Given the description of an element on the screen output the (x, y) to click on. 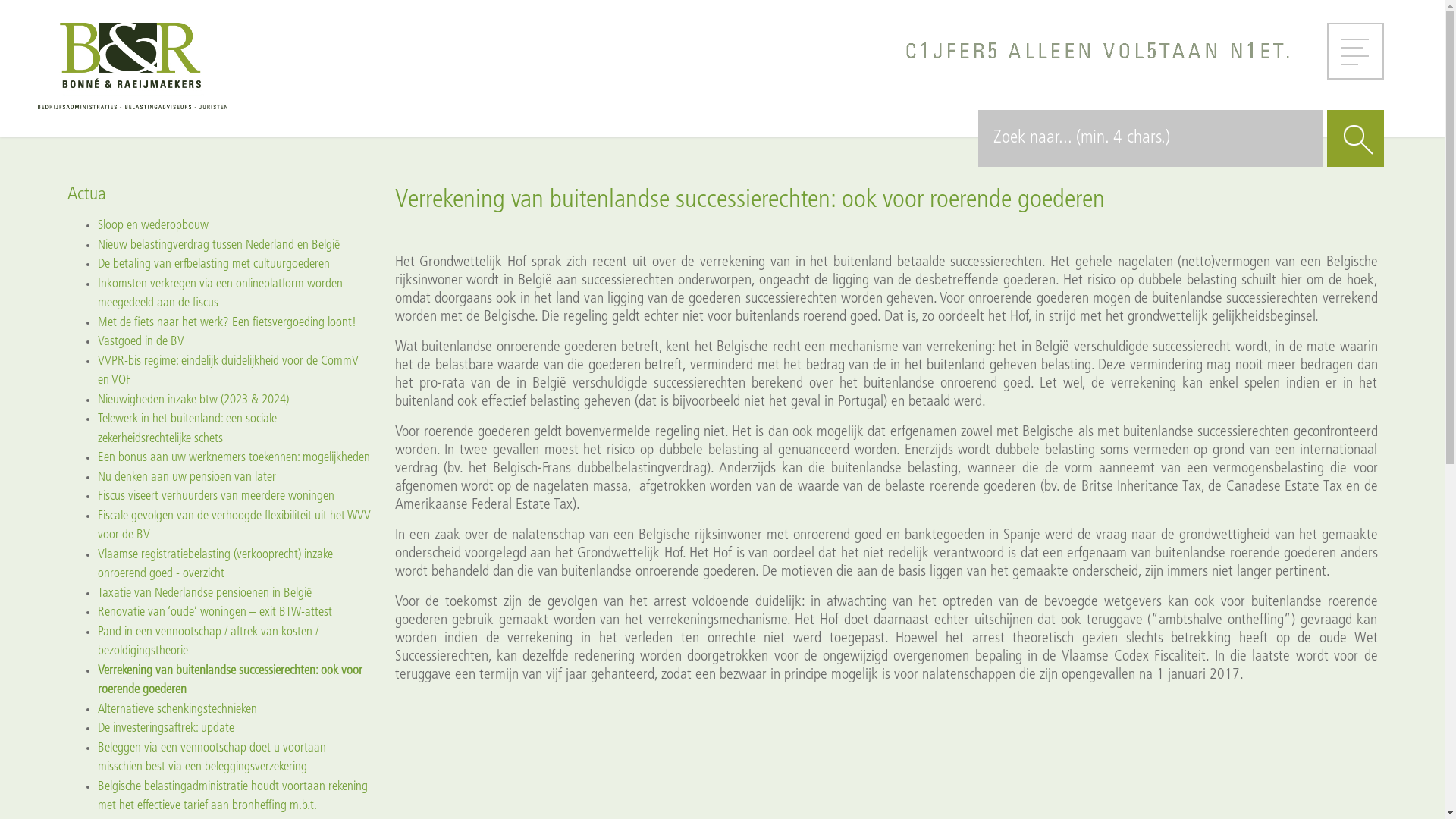
Met de fiets naar het werk? Een fietsvergoeding loont! Element type: text (226, 321)
Een bonus aan uw werknemers toekennen: mogelijkheden Element type: text (233, 457)
Alternatieve schenkingstechnieken Element type: text (176, 708)
Sloop en wederopbouw Element type: text (152, 225)
De investeringsaftrek: update Element type: text (165, 727)
Nu denken aan uw pensioen van later Element type: text (186, 476)
Fiscus viseert verhuurders van meerdere woningen Element type: text (215, 495)
Nieuwigheden inzake btw (2023 & 2024) Element type: text (192, 398)
De betaling van erfbelasting met cultuurgoederen Element type: text (213, 263)
Vastgoed in de BV Element type: text (140, 341)
